Given the description of an element on the screen output the (x, y) to click on. 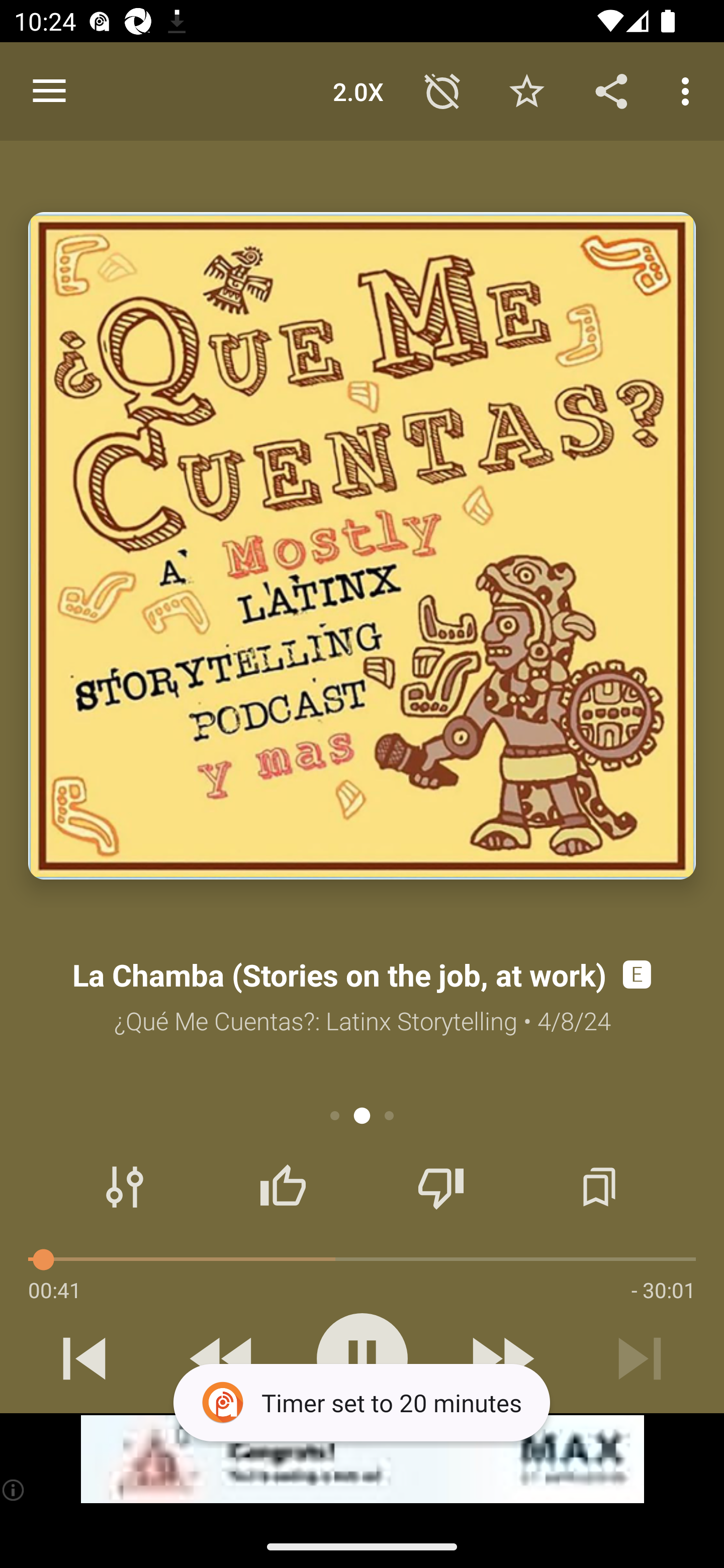
Open navigation sidebar (49, 91)
2.0X (357, 90)
Sleep Timer (442, 90)
Favorite (526, 90)
Share (611, 90)
More options (688, 90)
Episode description (361, 545)
Audio effects (124, 1186)
Thumbs up (283, 1186)
Thumbs down (440, 1186)
Chapters / Bookmarks (598, 1186)
- 30:02 (663, 1289)
Previous track (84, 1358)
Next track (639, 1358)
app-monetization (362, 1459)
(i) (14, 1489)
